Given the description of an element on the screen output the (x, y) to click on. 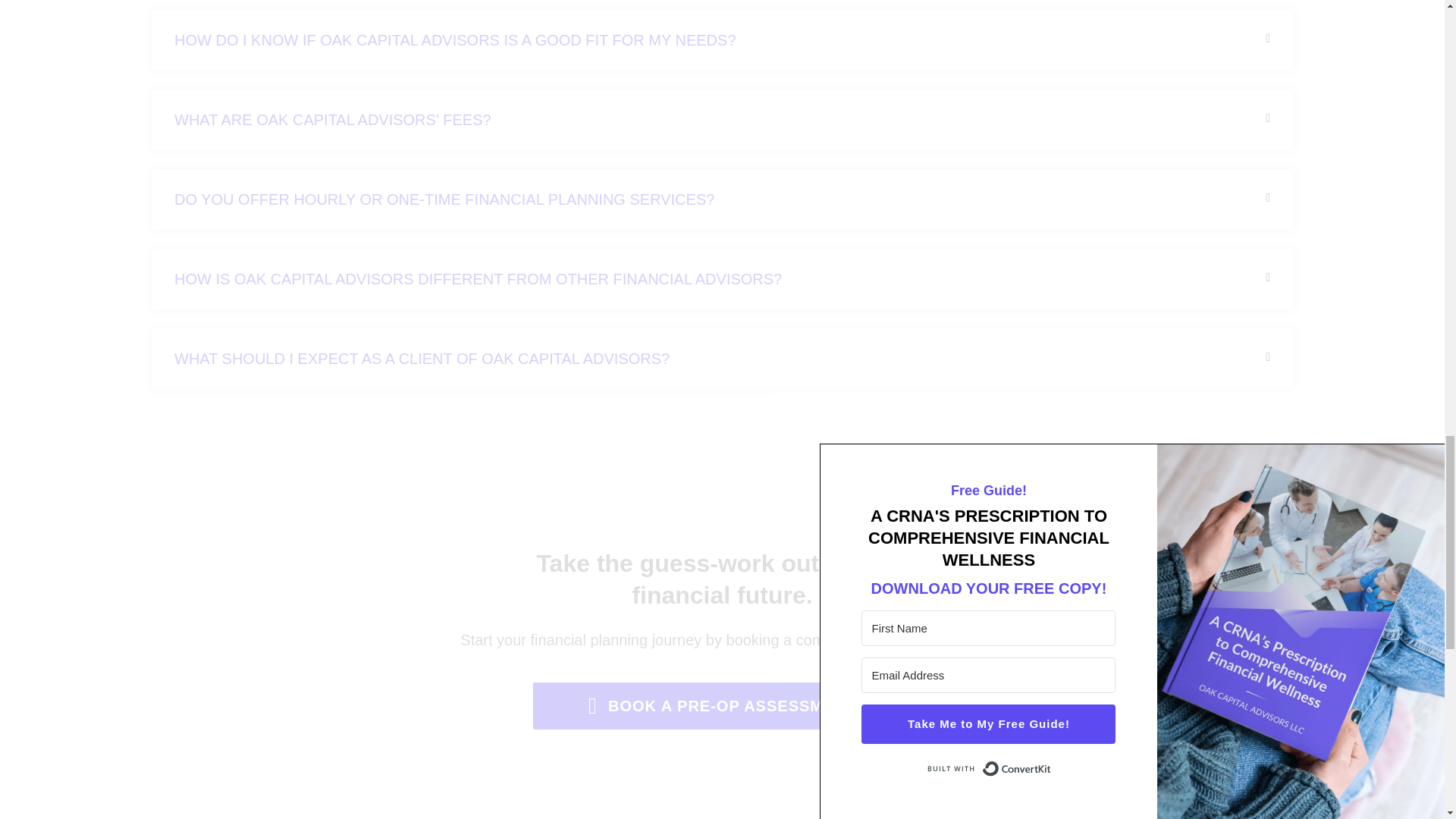
WHAT SHOULD I EXPECT AS A CLIENT OF OAK CAPITAL ADVISORS? (421, 358)
WHAT ARE OAK CAPITAL ADVISORS' FEES? (333, 119)
DO YOU OFFER HOURLY OR ONE-TIME FINANCIAL PLANNING SERVICES? (444, 199)
BOOK A PRE-OP ASSESSMENT (721, 705)
